Given the description of an element on the screen output the (x, y) to click on. 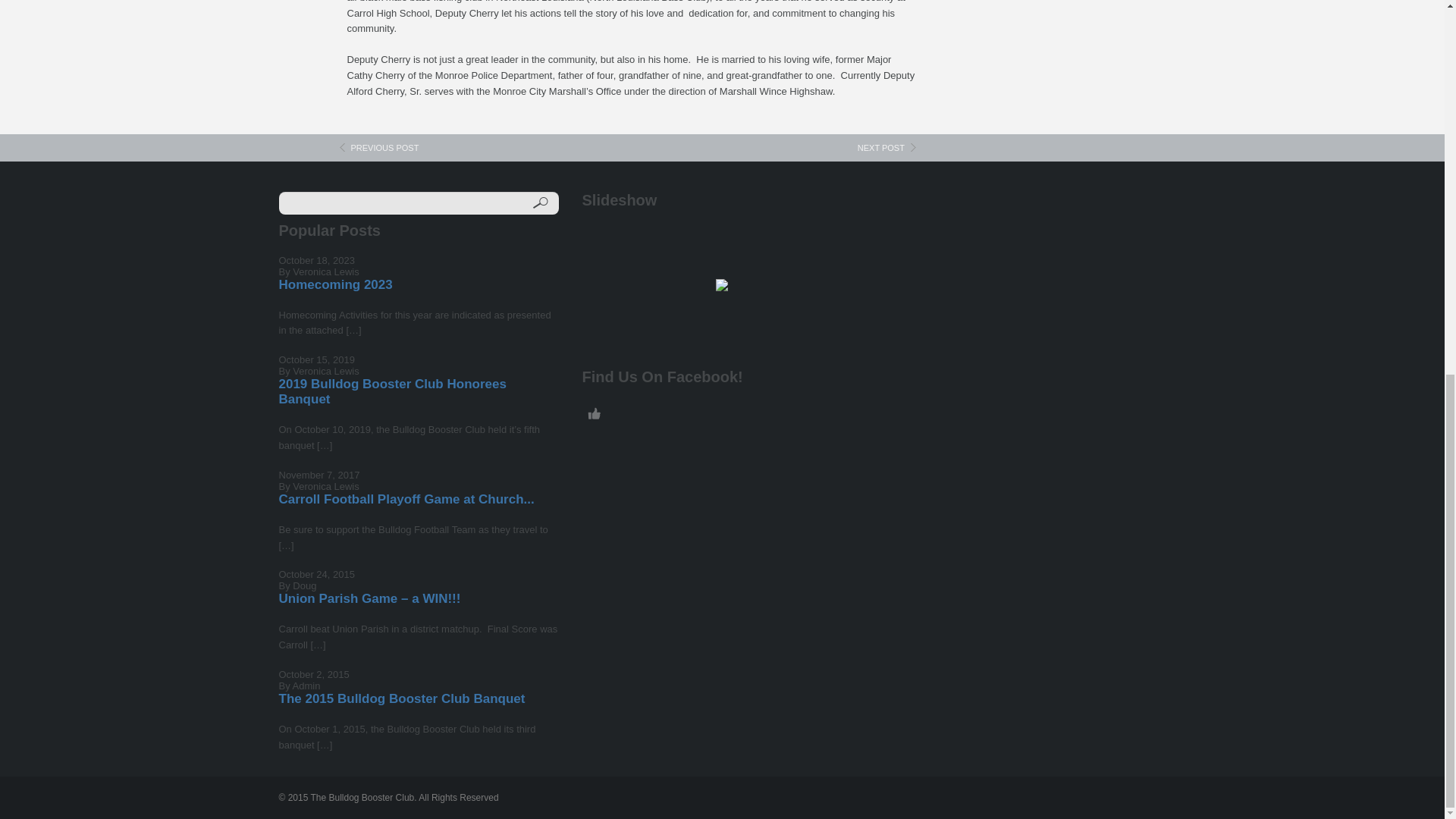
Search (540, 202)
